Given the description of an element on the screen output the (x, y) to click on. 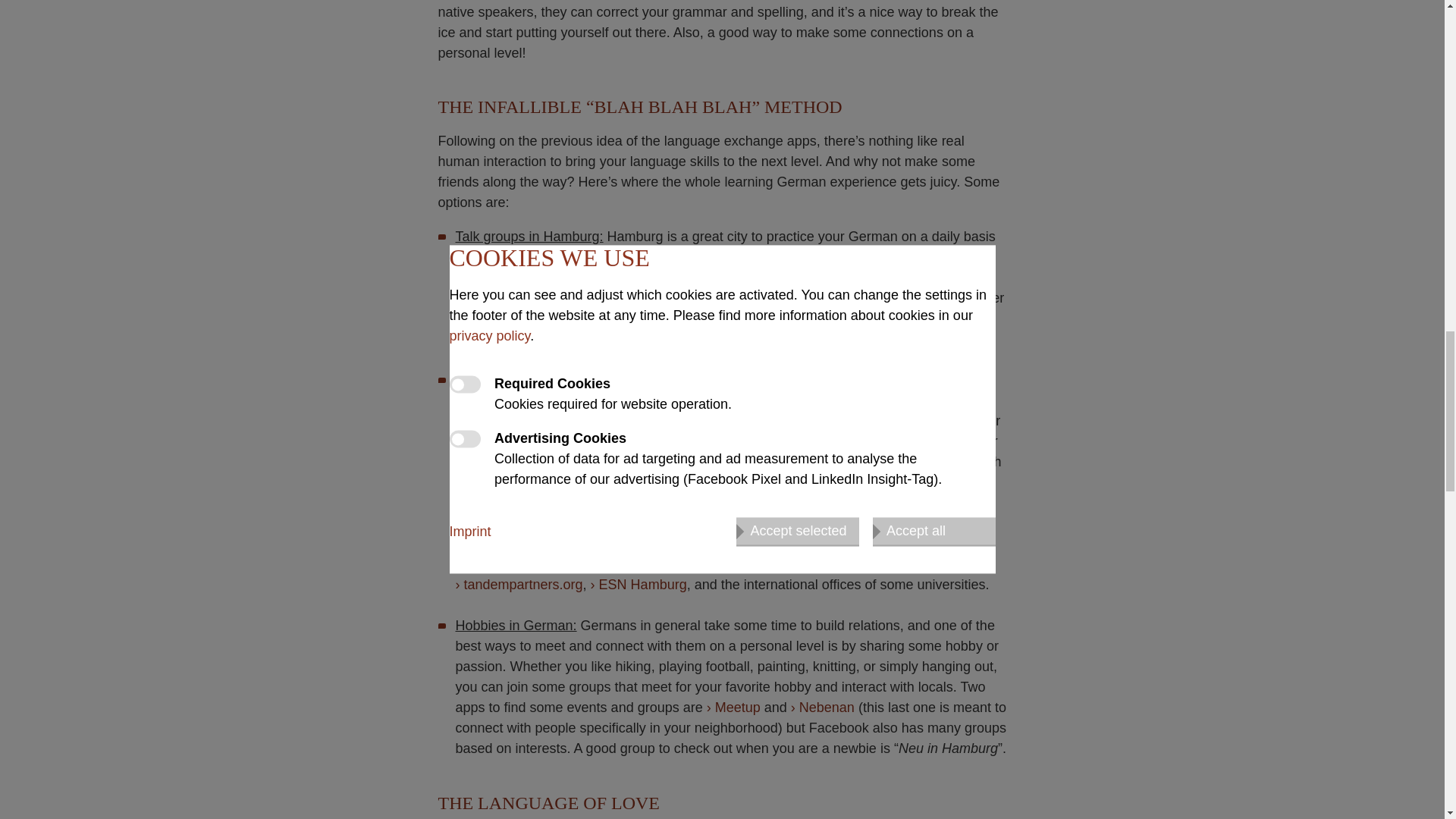
Welcome to Hamburg (517, 318)
vhs tandem (880, 563)
tandempartners (518, 584)
Sprachbruecke (808, 338)
tandem (785, 563)
